Given the description of an element on the screen output the (x, y) to click on. 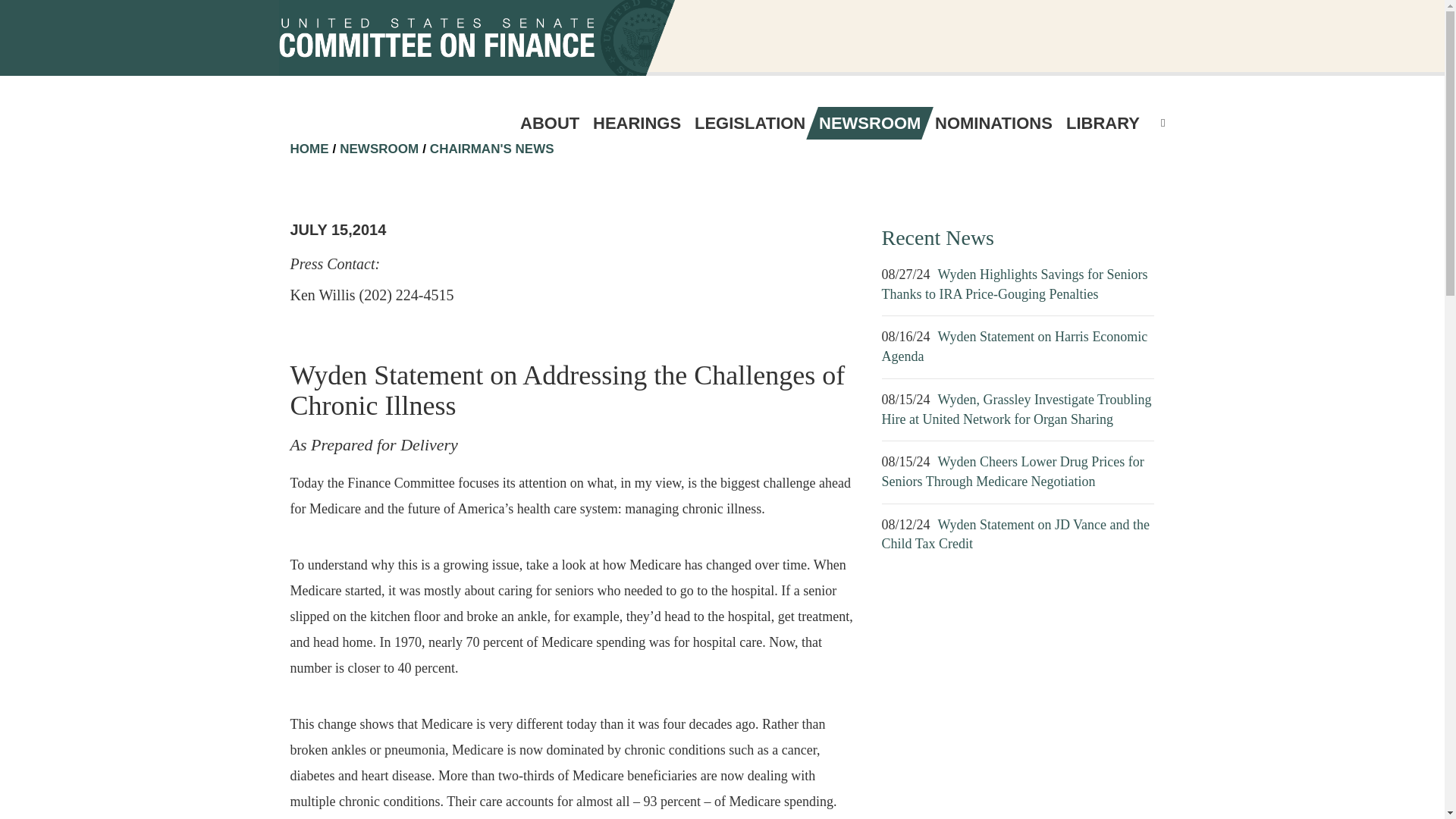
LEGISLATION (749, 123)
NOMINATIONS (993, 123)
HEARINGS (636, 123)
